Given the description of an element on the screen output the (x, y) to click on. 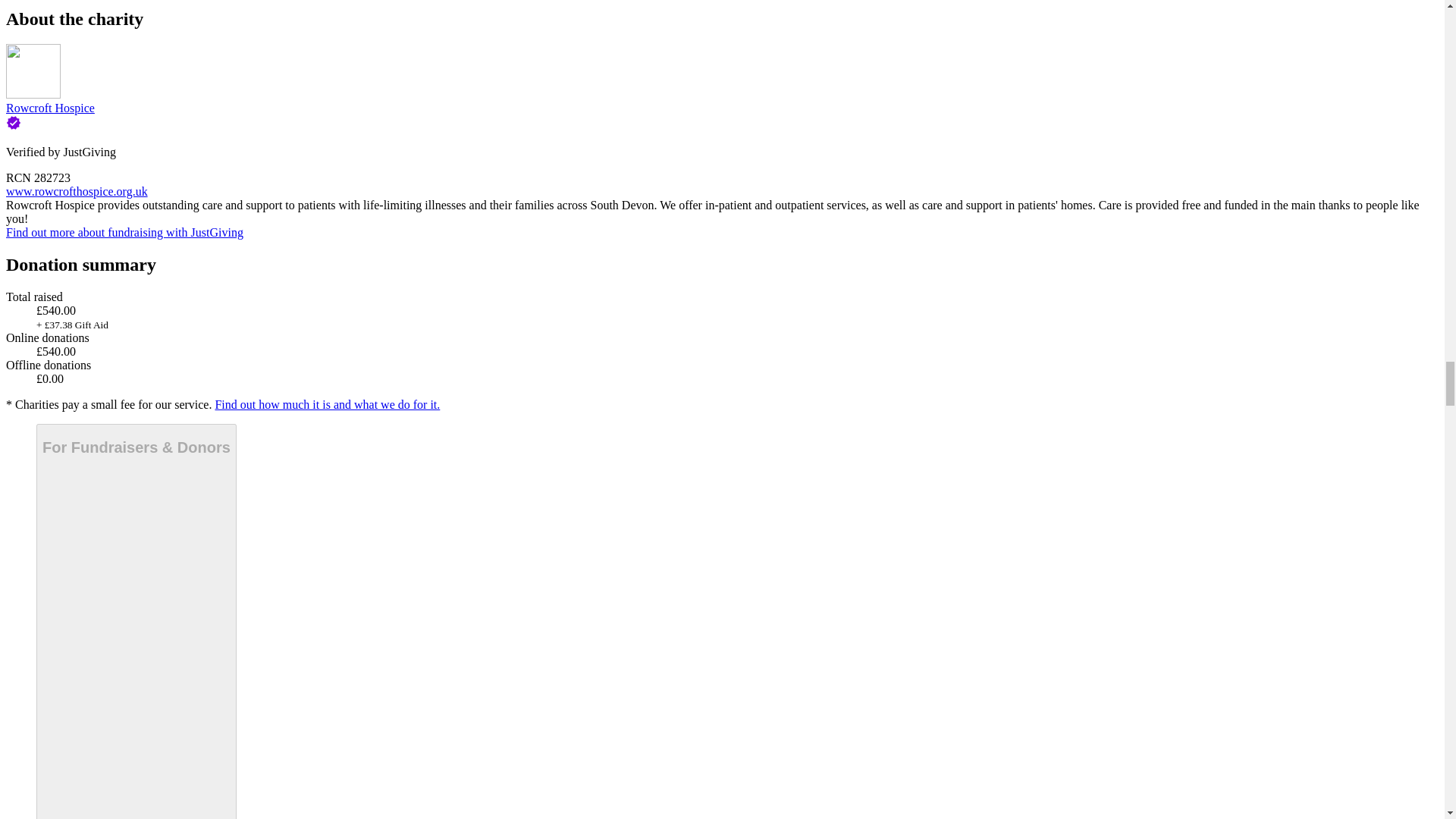
Find out more about fundraising with JustGiving (124, 232)
Find out how much it is and what we do for it. (326, 404)
www.rowcrofthospice.org.uk (76, 191)
Rowcroft Hospice (49, 107)
